Given the description of an element on the screen output the (x, y) to click on. 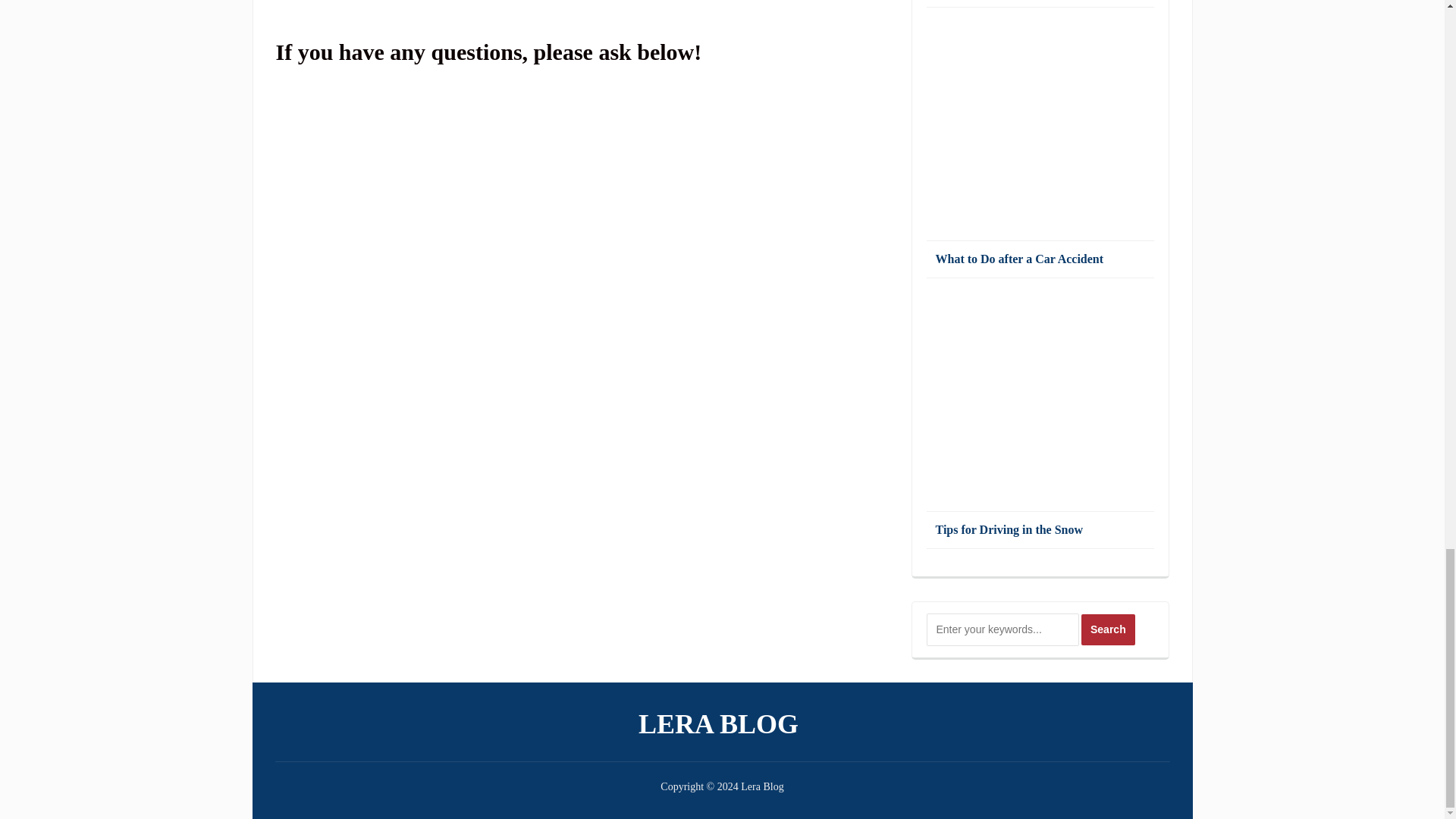
Search (1108, 629)
Search (1108, 629)
